Given the description of an element on the screen output the (x, y) to click on. 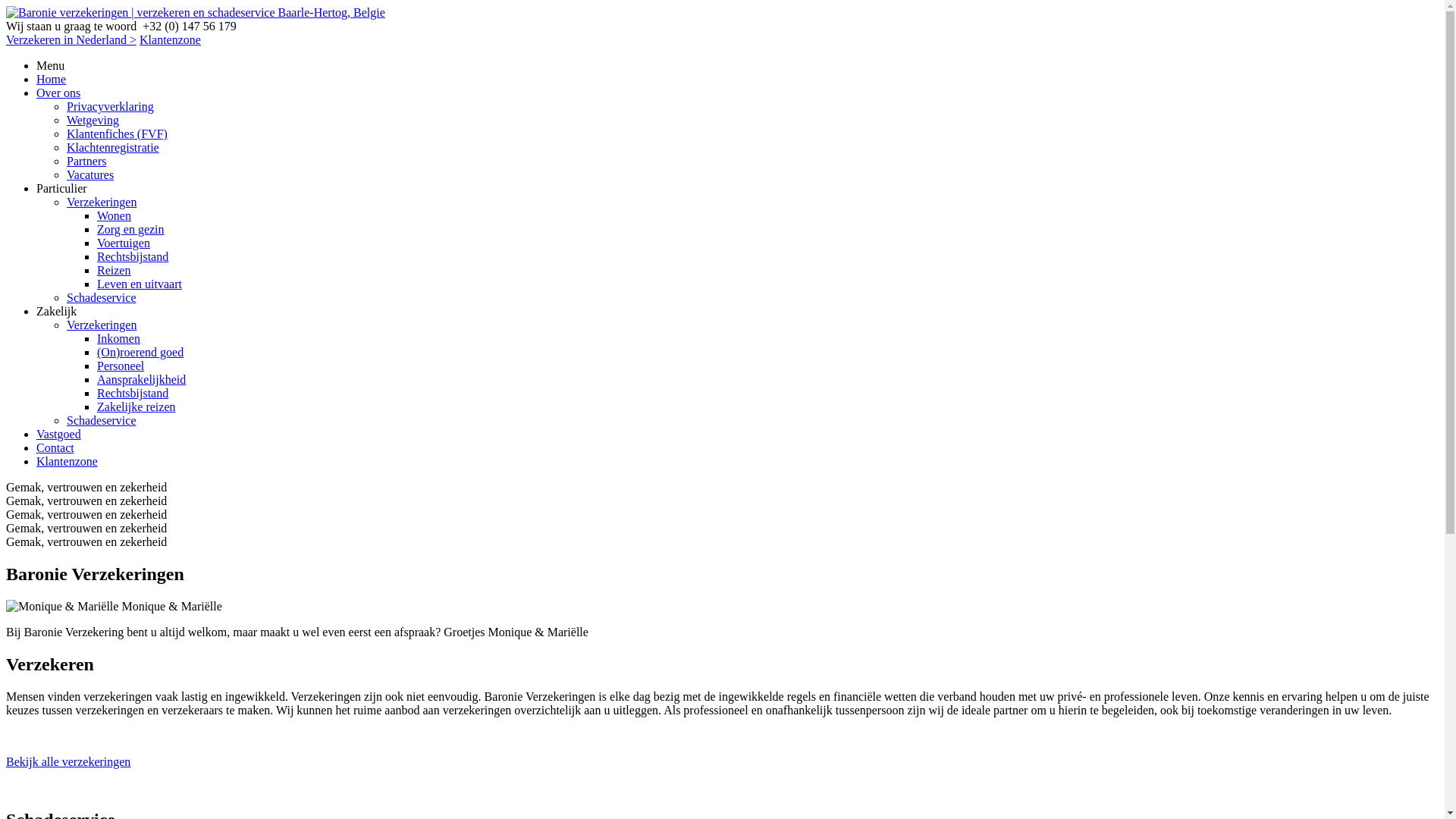
Voertuigen Element type: text (123, 242)
Inkomen Element type: text (118, 338)
Verzekeringen Element type: text (101, 201)
Wonen Element type: text (114, 215)
Zakelijk Element type: text (56, 310)
Wetgeving Element type: text (92, 119)
Vacatures Element type: text (89, 174)
Over ons Element type: text (58, 92)
(On)roerend goed Element type: text (140, 351)
Home Element type: text (50, 78)
Schadeservice Element type: text (101, 297)
Verzekeringen Element type: text (101, 324)
Klantenfiches (FVF) Element type: text (116, 133)
Verzekeren in Nederland > Element type: text (71, 39)
Klantenzone Element type: text (169, 39)
Zakelijke reizen Element type: text (136, 406)
Aansprakelijkheid Element type: text (141, 379)
Bekijk alle verzekeringen Element type: text (68, 761)
Zorg en gezin Element type: text (130, 228)
Reizen Element type: text (113, 269)
Menu Element type: text (737, 65)
Particulier Element type: text (61, 188)
Leven en uitvaart Element type: text (139, 283)
Klachtenregistratie Element type: text (112, 147)
Schadeservice Element type: text (101, 420)
Vastgoed Element type: text (58, 433)
Klantenzone Element type: text (66, 461)
Contact Element type: text (55, 447)
Rechtsbijstand Element type: text (132, 256)
Privacyverklaring Element type: text (109, 106)
Partners Element type: text (86, 160)
Personeel Element type: text (120, 365)
Rechtsbijstand Element type: text (132, 392)
